Given the description of an element on the screen output the (x, y) to click on. 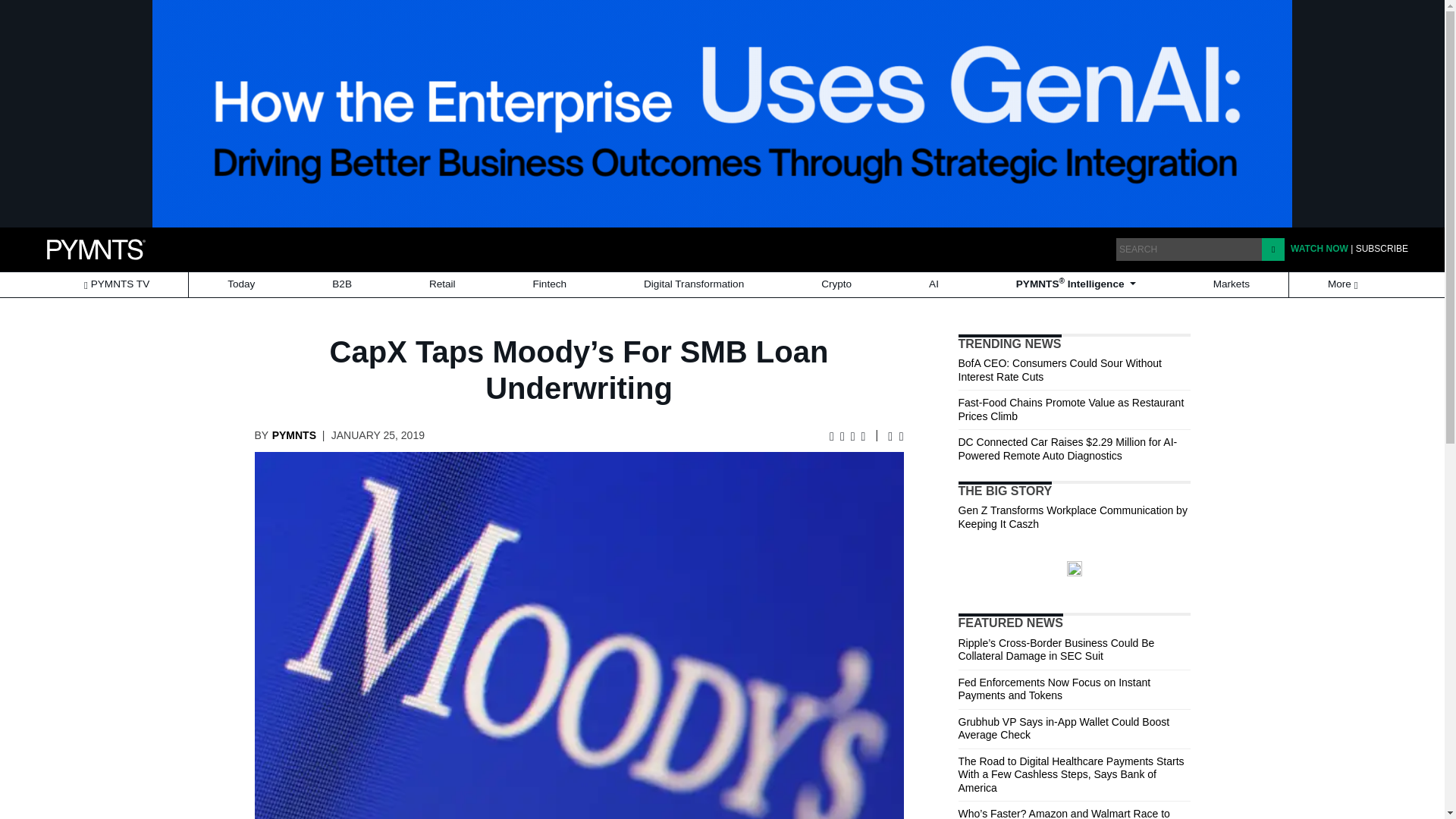
 PYMNTS TV (116, 284)
Retail (442, 284)
Fintech (550, 284)
SUBSCRIBE (1381, 248)
Fast-Food Chains Promote Value as Restaurant Prices Climb (1071, 409)
WATCH NOW (1319, 248)
Crypto (836, 284)
Posts by PYMNTS (293, 435)
More  (1343, 284)
B2B (342, 284)
